Given the description of an element on the screen output the (x, y) to click on. 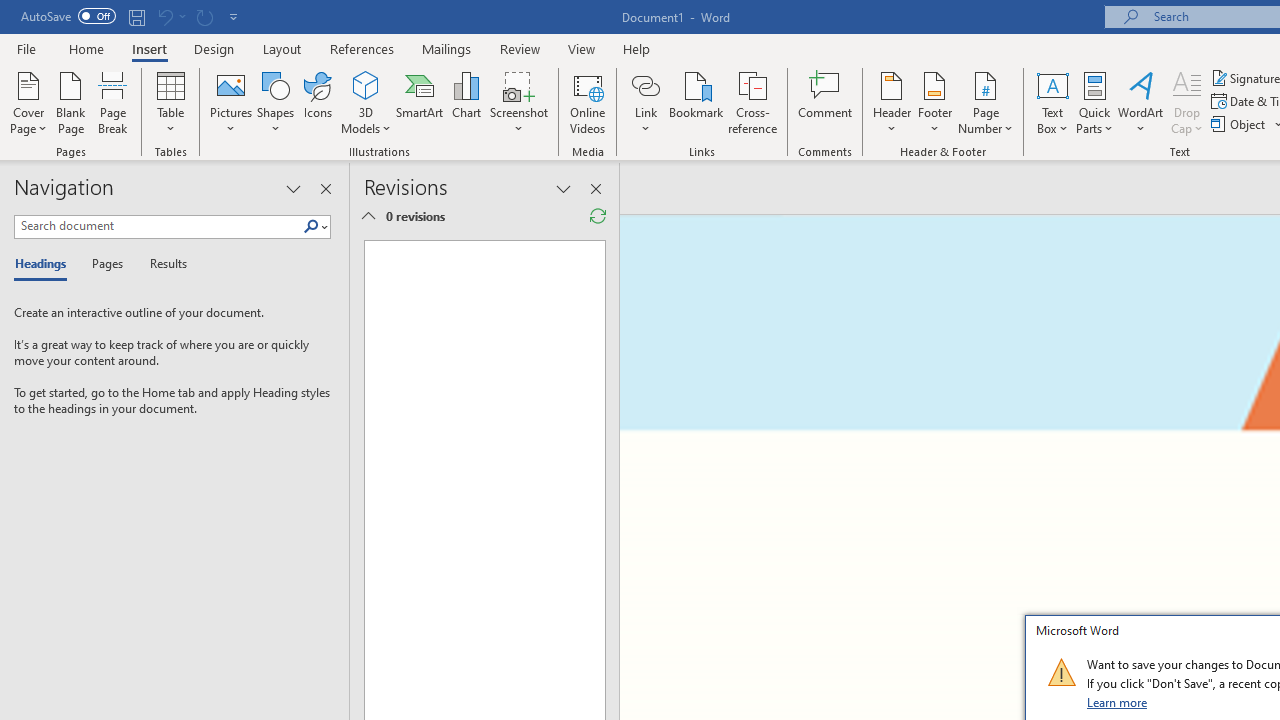
Can't Repeat (204, 15)
Can't Undo (170, 15)
Shapes (275, 102)
Pictures (230, 102)
WordArt (1141, 102)
Can't Undo (164, 15)
Chart... (466, 102)
